Given the description of an element on the screen output the (x, y) to click on. 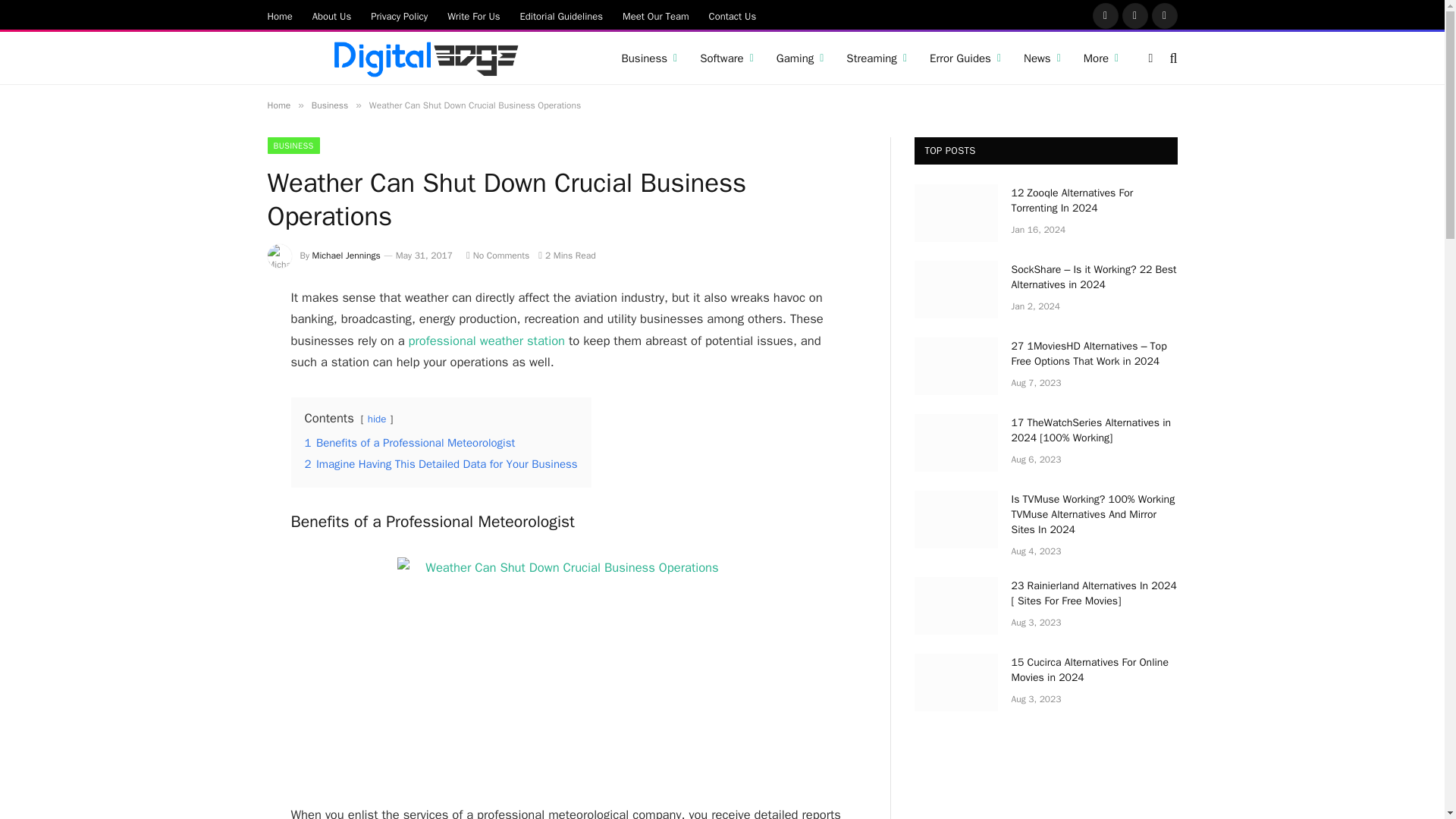
Posts by Michael Jennings (346, 255)
Switch to Dark Design - easier on eyes. (1150, 57)
Digital Edge (424, 58)
12 Zooqle Alternatives For Torrenting In 2024 (955, 212)
